Given the description of an element on the screen output the (x, y) to click on. 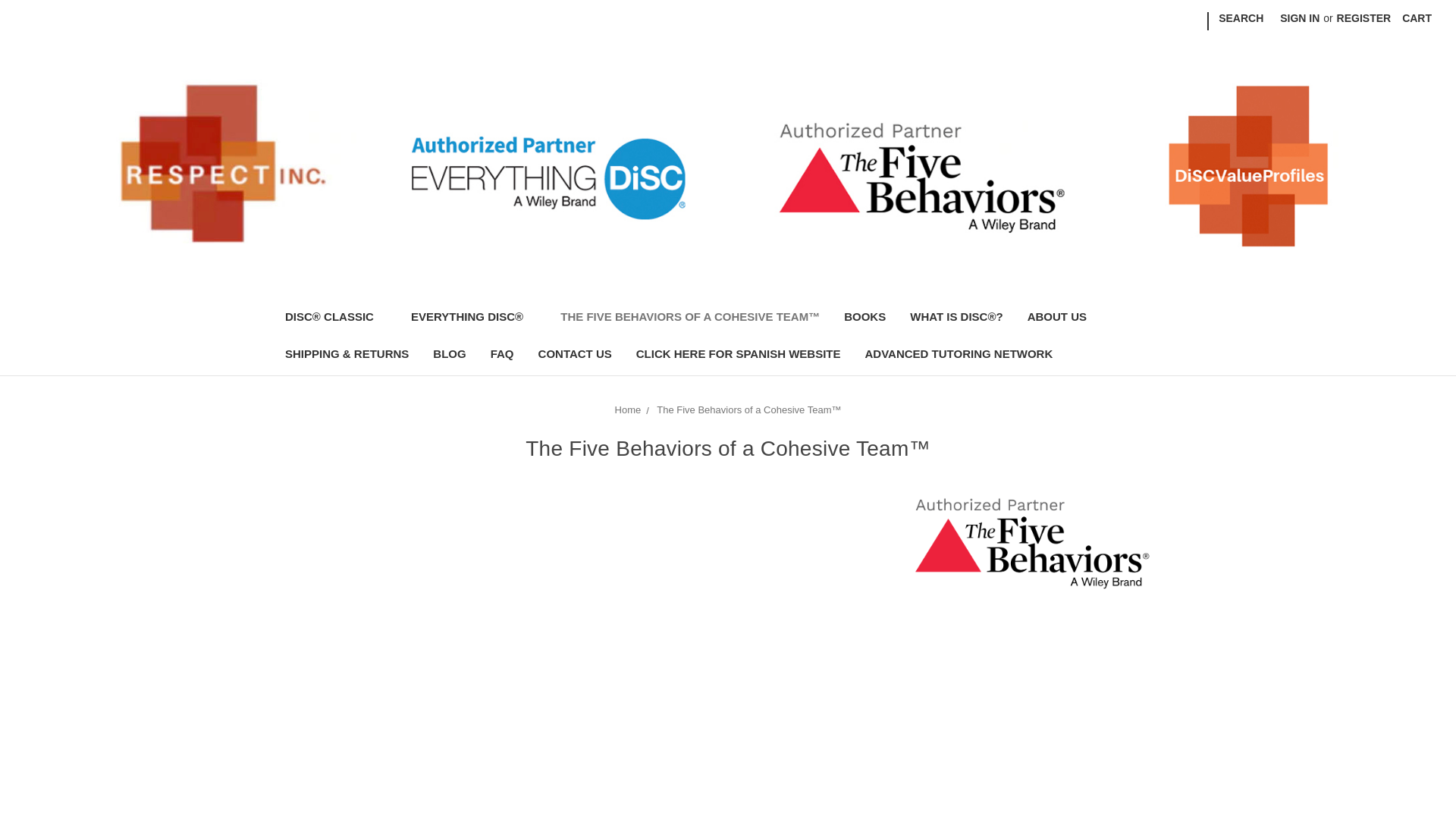
FAQ (502, 355)
SEARCH (1240, 18)
CART (1416, 18)
CONTACT US (574, 355)
BLOG (448, 355)
BOOKS (864, 318)
ADVANCED TUTORING NETWORK (959, 355)
REGISTER (1363, 18)
Home (628, 409)
CLICK HERE FOR SPANISH WEBSITE (738, 355)
